Given the description of an element on the screen output the (x, y) to click on. 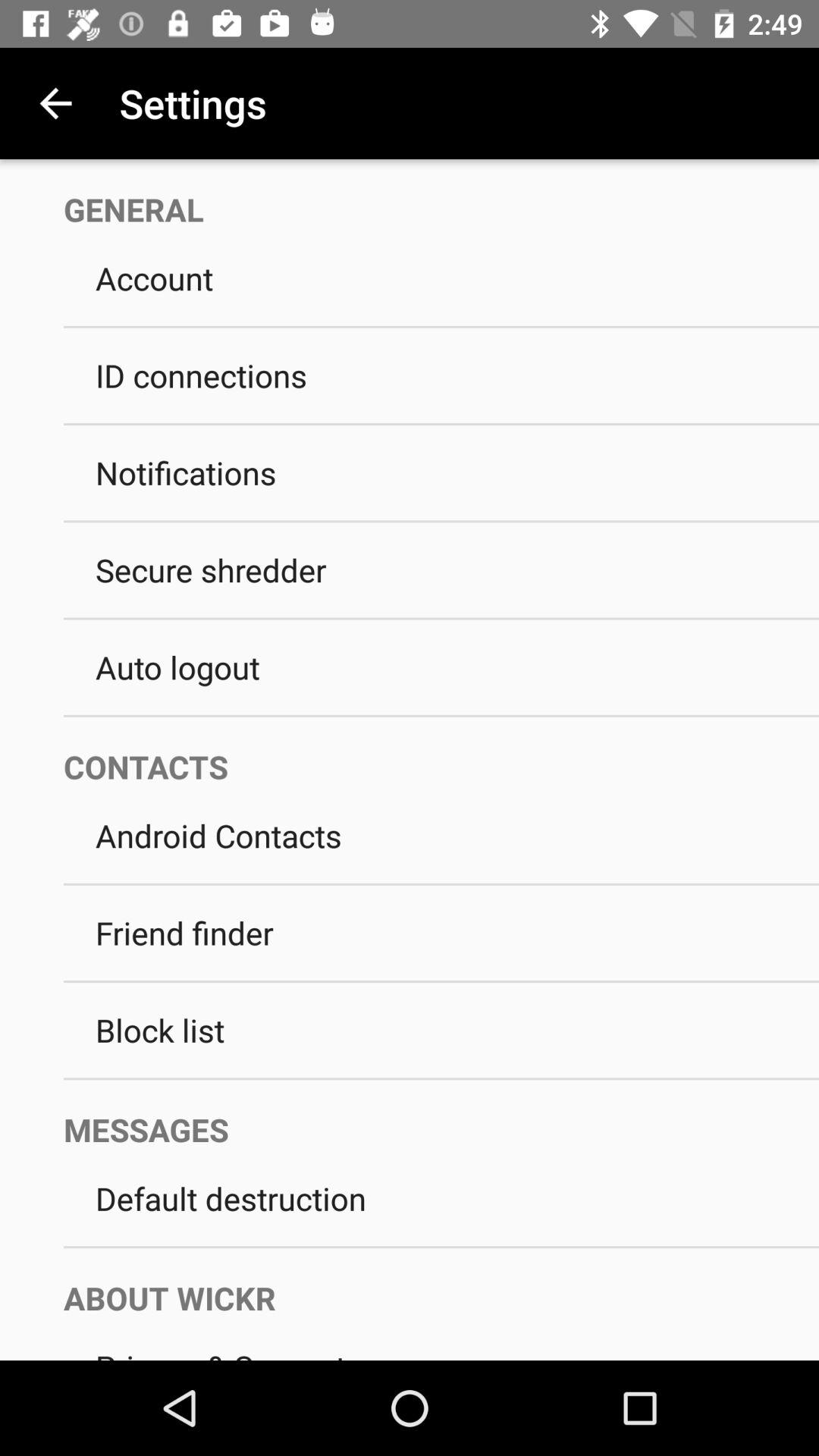
choose the icon above secure shredder item (441, 521)
